Given the description of an element on the screen output the (x, y) to click on. 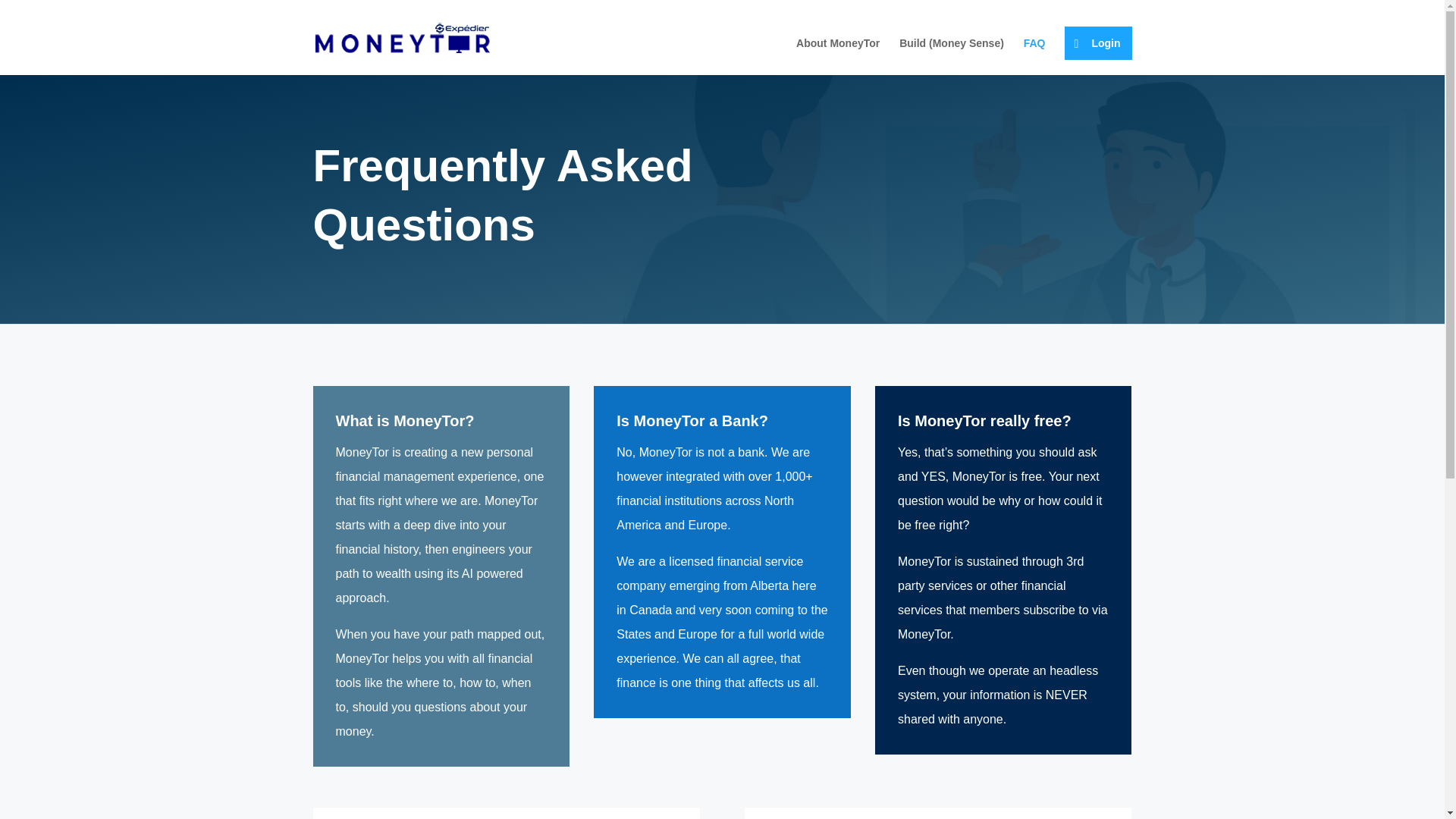
Login (1097, 42)
About MoneyTor (837, 56)
